Given the description of an element on the screen output the (x, y) to click on. 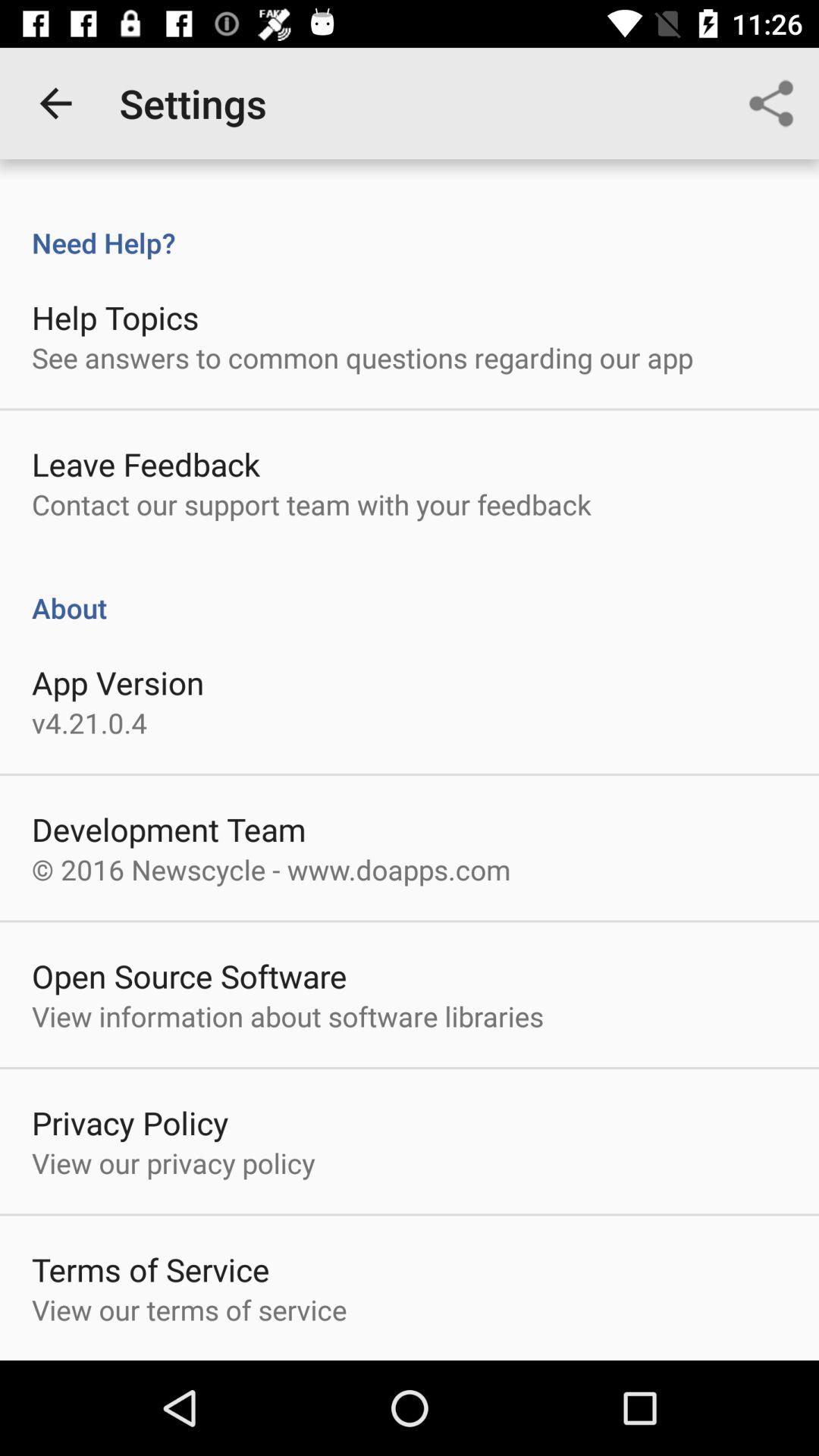
flip until the contact our support icon (311, 504)
